Given the description of an element on the screen output the (x, y) to click on. 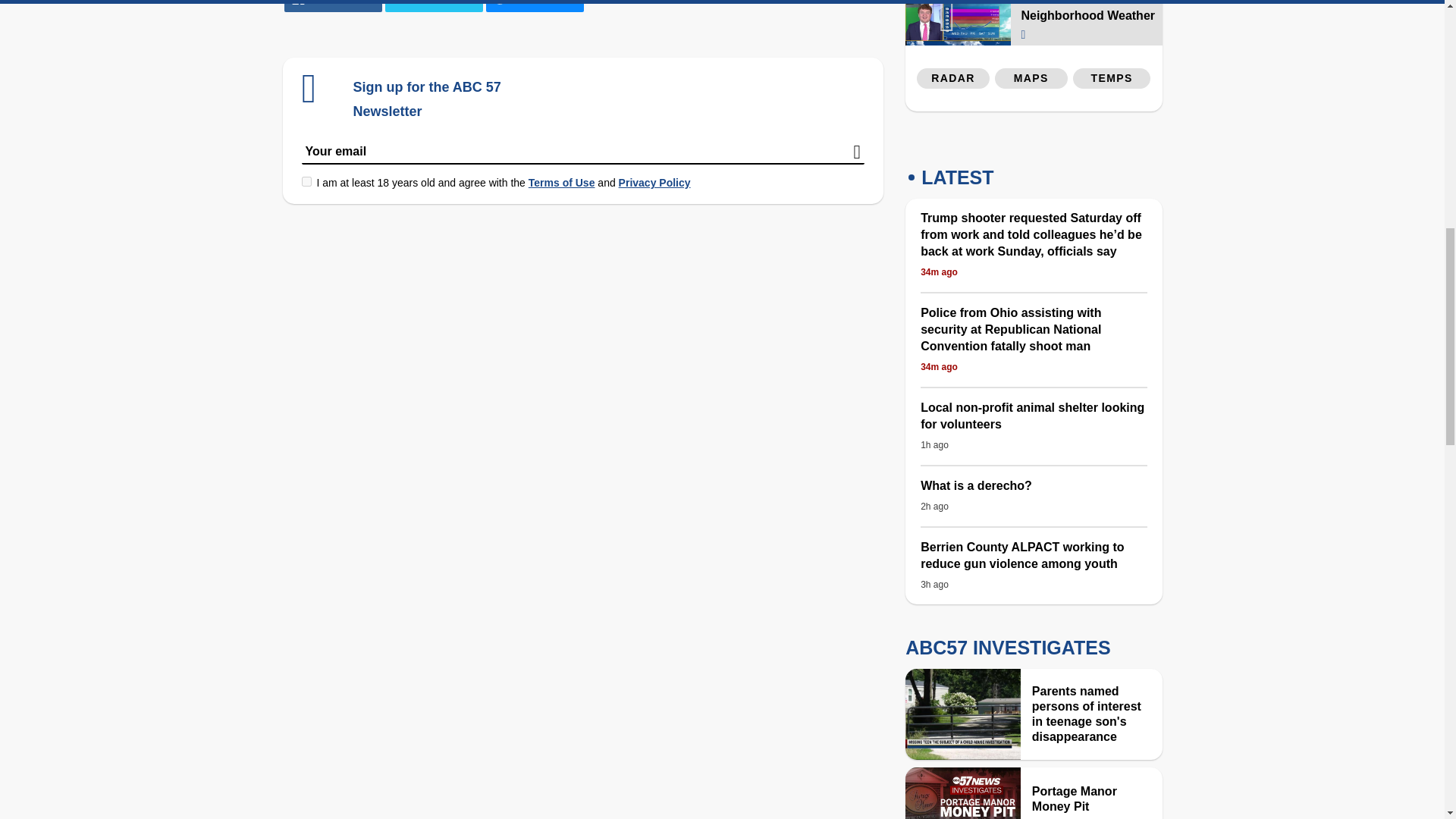
on (306, 181)
